Given the description of an element on the screen output the (x, y) to click on. 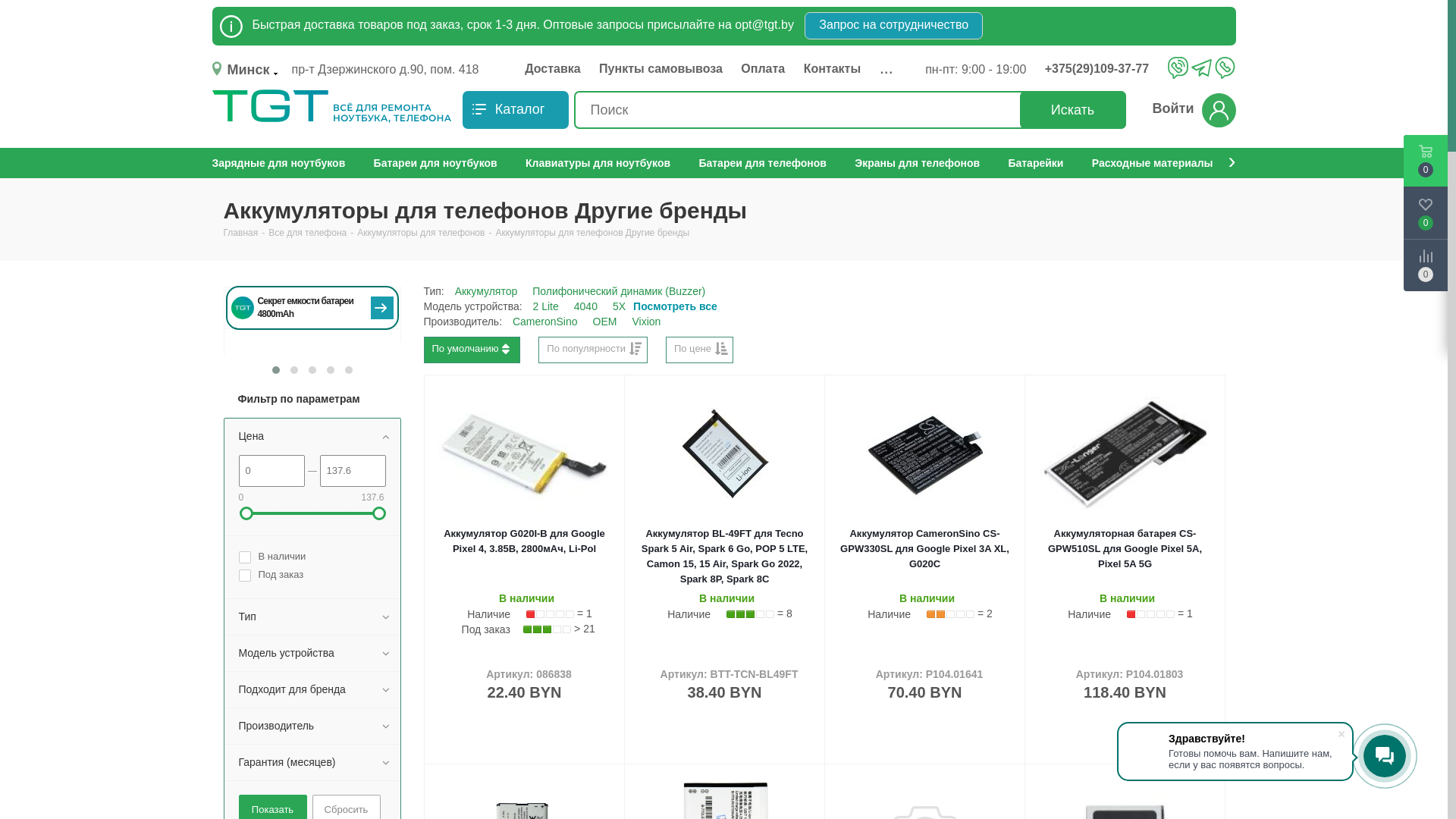
whatsapp Element type: hover (1224, 67)
+375(29)109-37-77 Element type: text (1108, 68)
telegram Element type: hover (1201, 68)
viber Element type: hover (1177, 67)
Vixion Element type: text (645, 321)
HDD / SSD Element type: text (559, 162)
opt@tgt.by Element type: text (763, 24)
CameronSino Element type: text (544, 321)
2 Lite Element type: text (545, 306)
4040 Element type: text (585, 306)
5X Element type: text (618, 306)
Y Element type: text (4, 4)
OEM Element type: text (605, 321)
